Given the description of an element on the screen output the (x, y) to click on. 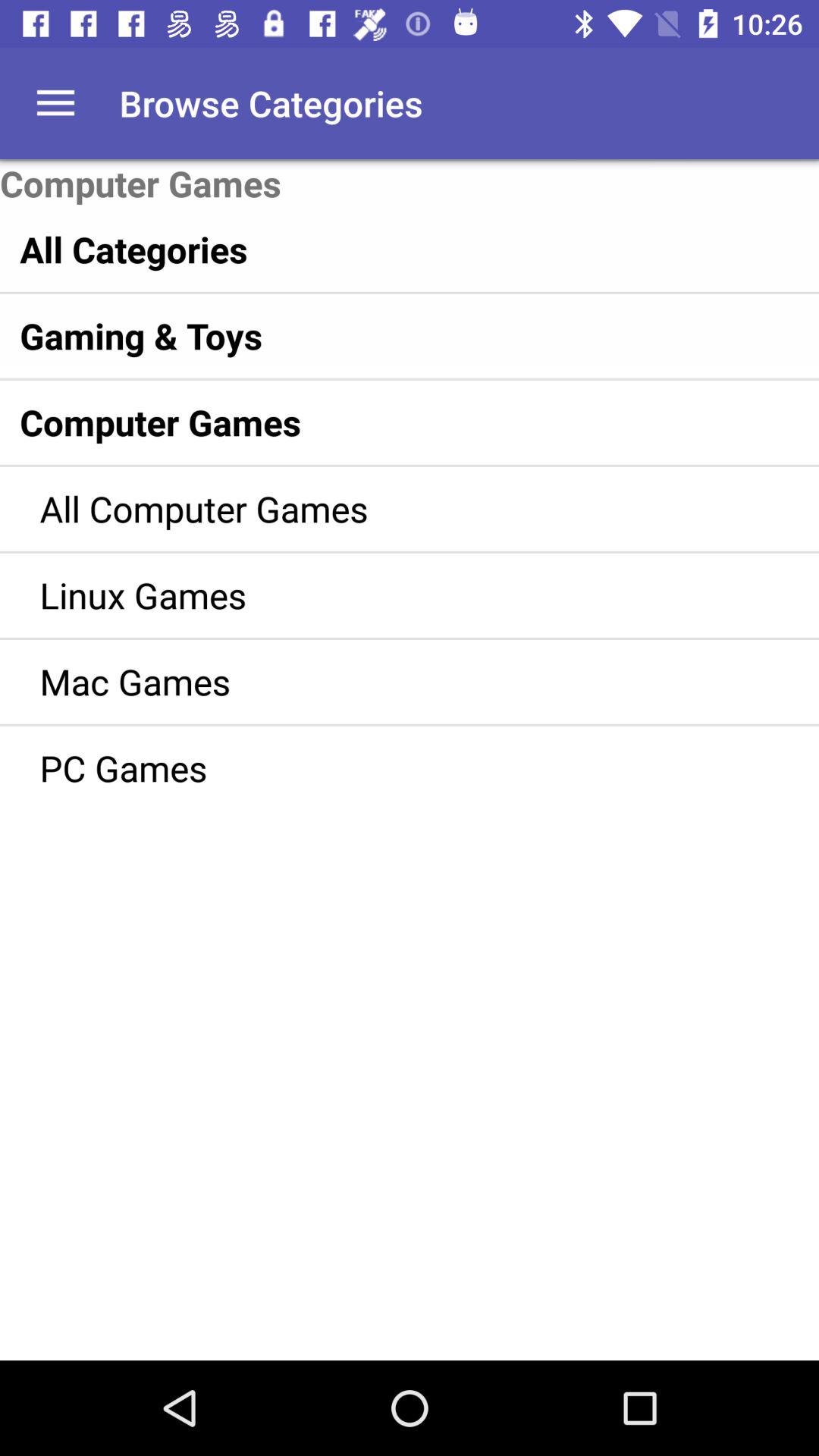
jump to the linux games item (387, 595)
